Given the description of an element on the screen output the (x, y) to click on. 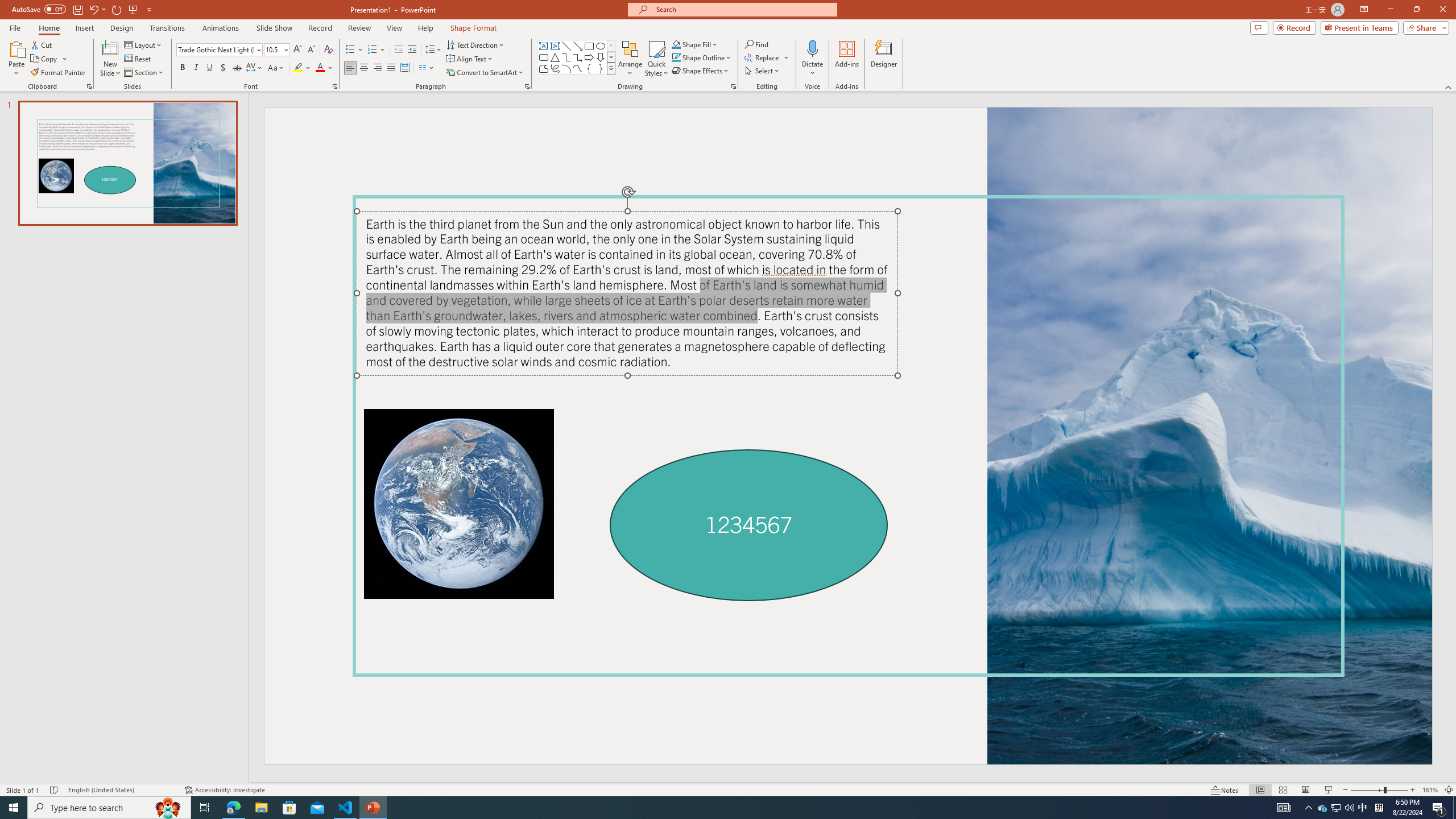
Zoom 161% (1430, 790)
